Given the description of an element on the screen output the (x, y) to click on. 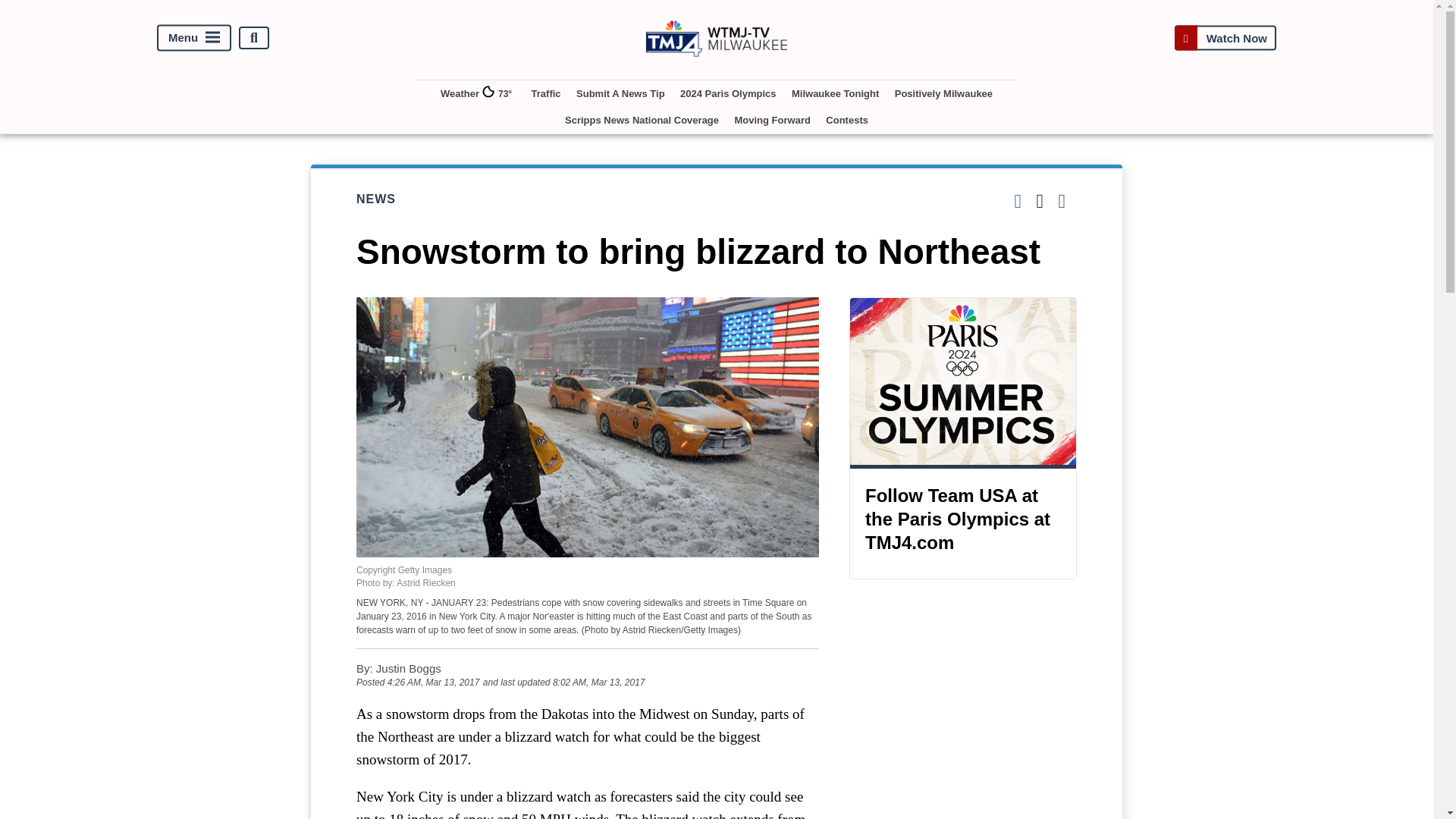
Watch Now (1224, 38)
Menu (194, 38)
